Given the description of an element on the screen output the (x, y) to click on. 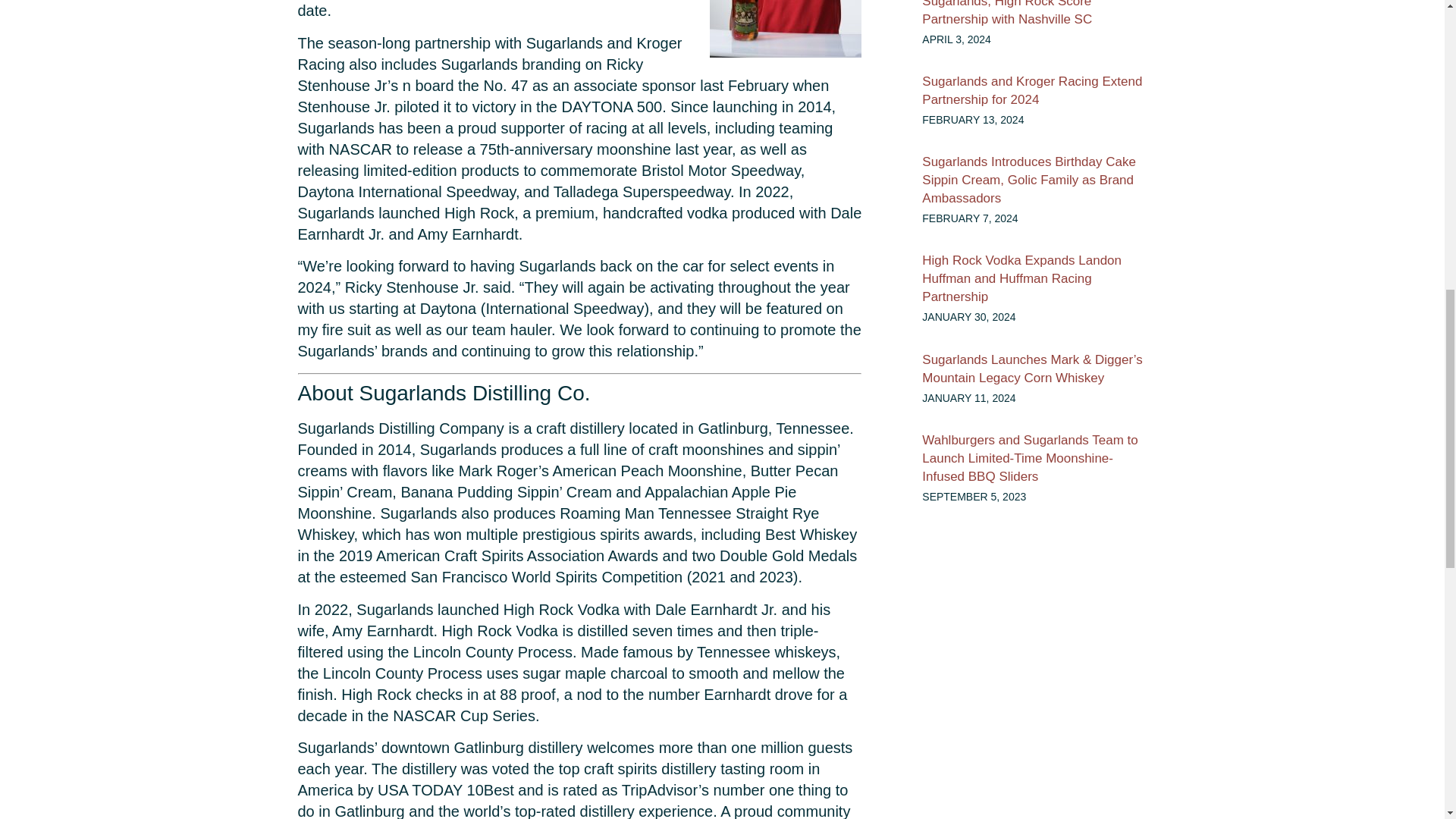
Sugarlands, High Rock Score Partnership with Nashville SC (1006, 13)
Sugarlands and Kroger Racing Extend Partnership for 2024 (1031, 90)
